Given the description of an element on the screen output the (x, y) to click on. 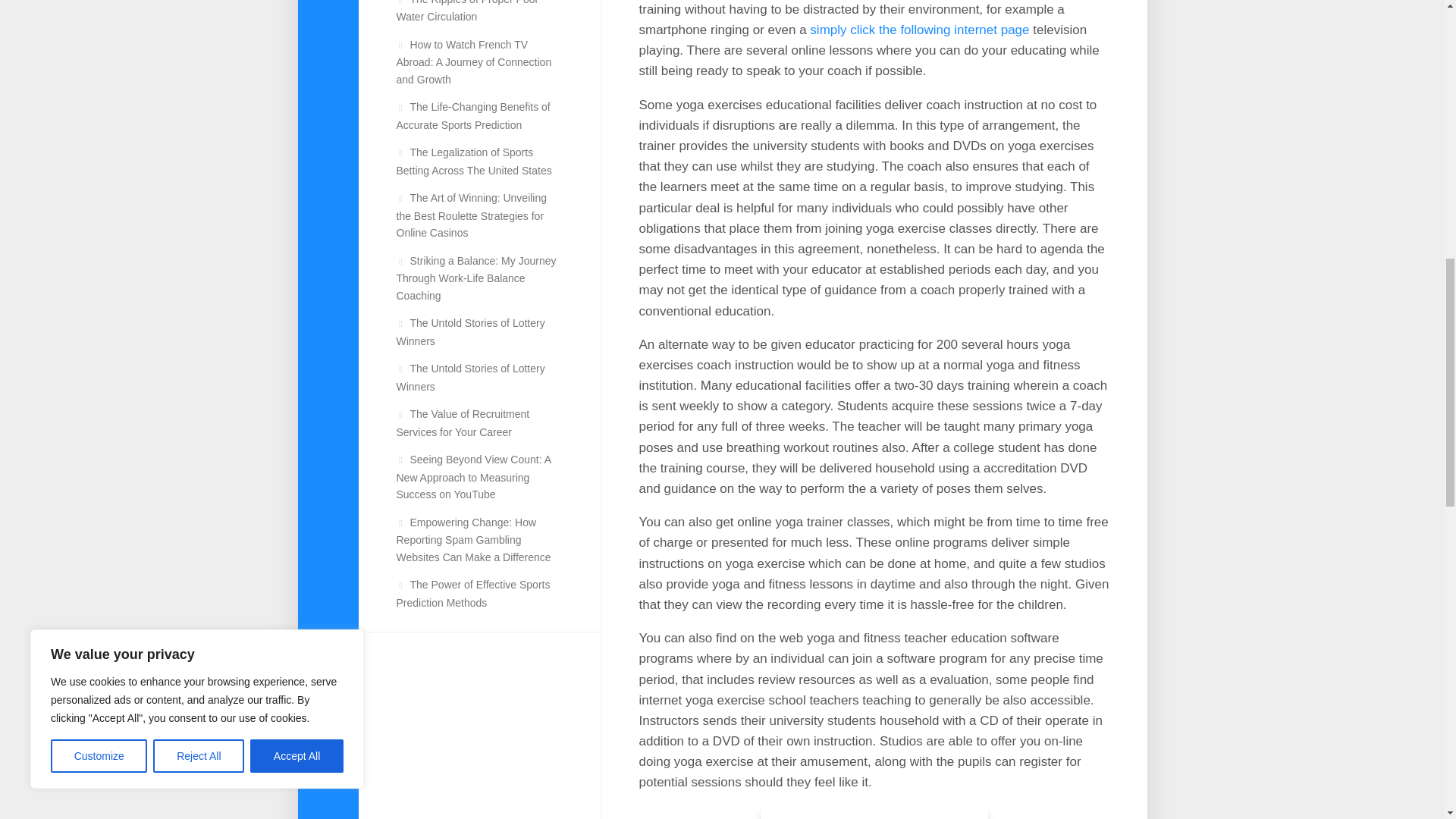
simply click the following internet page (919, 29)
